Given the description of an element on the screen output the (x, y) to click on. 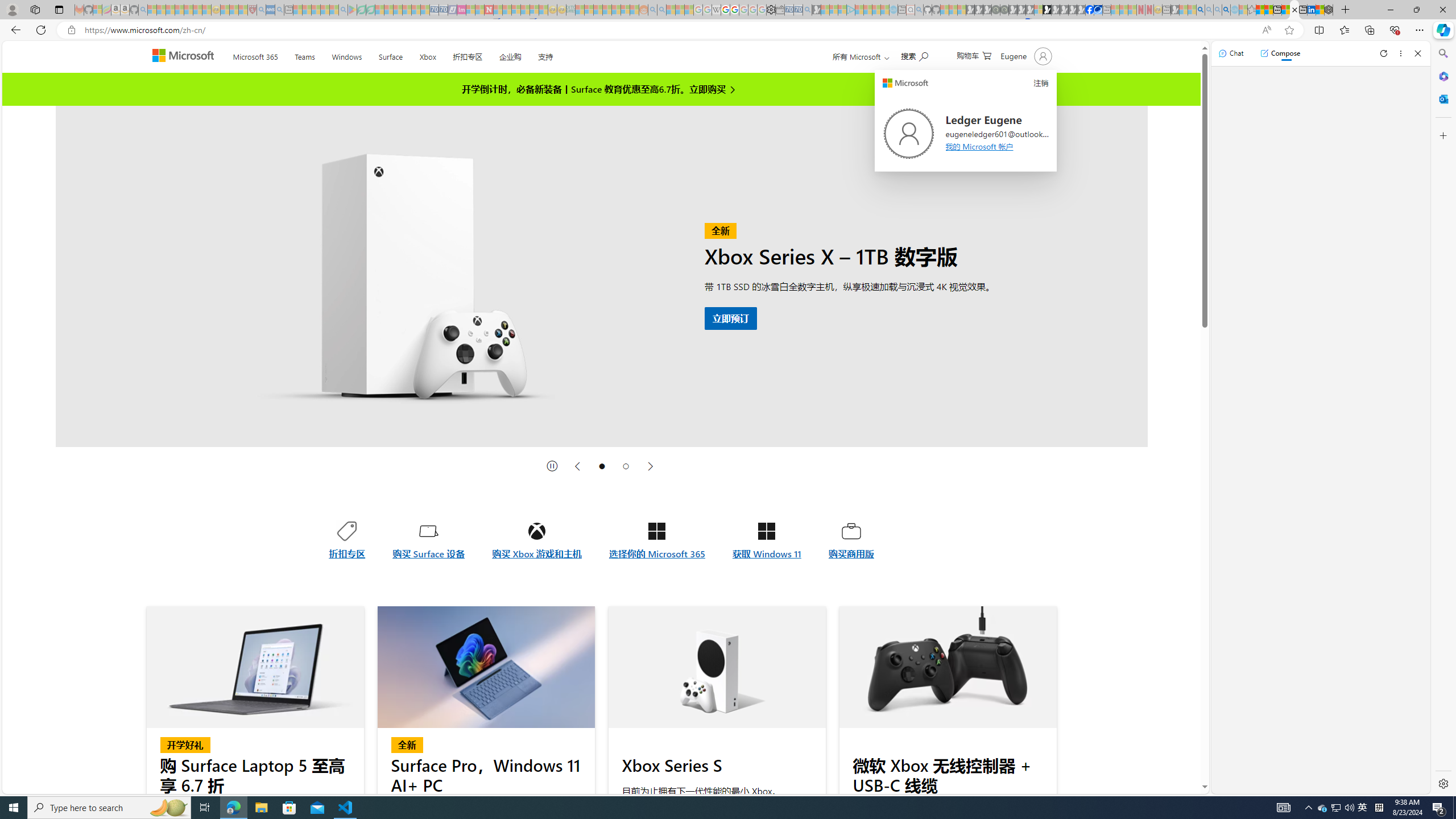
github - Search - Sleeping (919, 9)
View site information (70, 29)
The Weather Channel - MSN - Sleeping (170, 9)
LinkedIn (1311, 9)
list of asthma inhalers uk - Search - Sleeping (260, 9)
Latest Politics News & Archive | Newsweek.com - Sleeping (488, 9)
Xbox (428, 54)
